Given the description of an element on the screen output the (x, y) to click on. 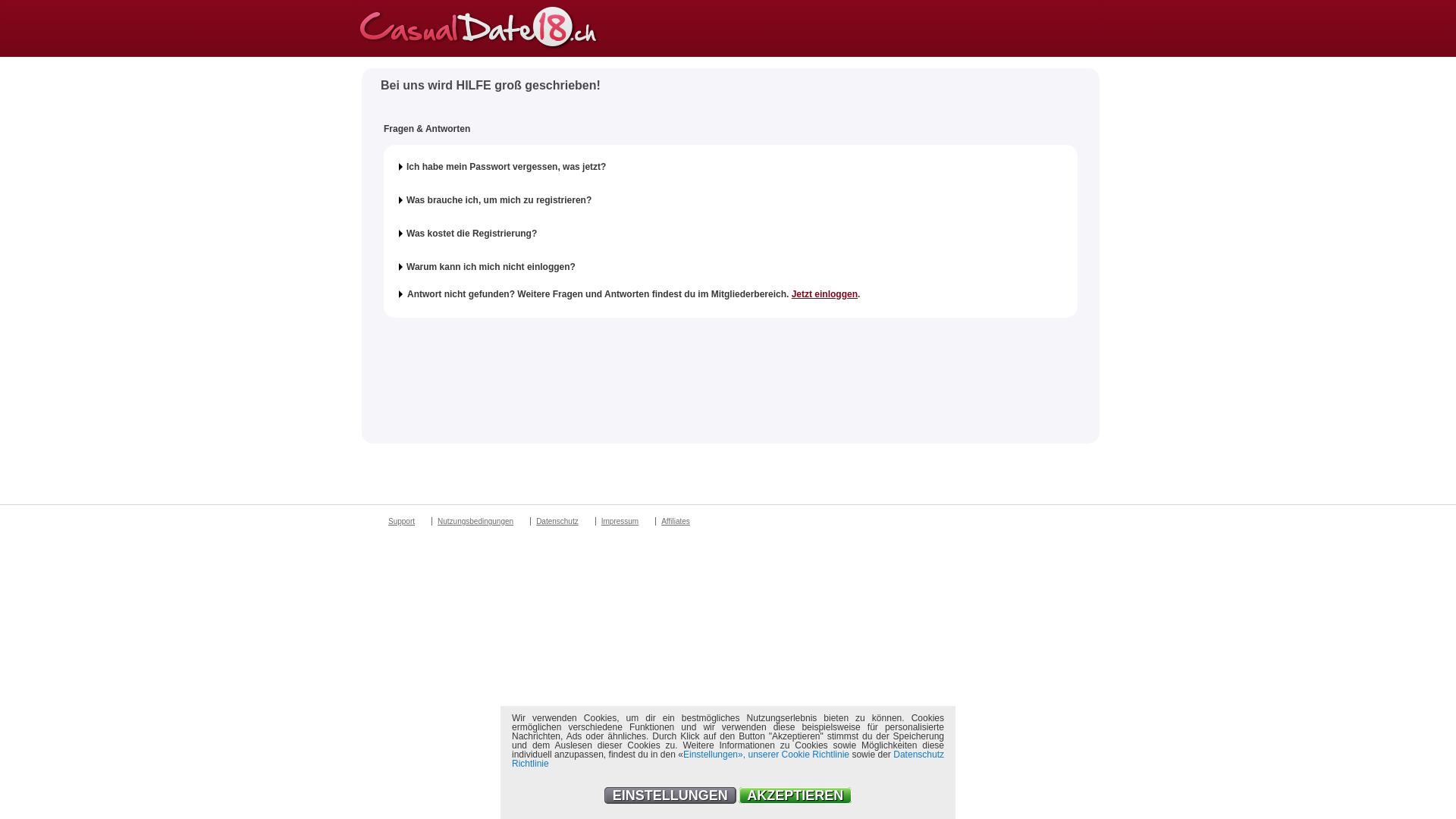
AKZEPTIEREN Element type: text (794, 795)
Datenschutz Richtlinie Element type: text (727, 758)
Jetzt einloggen Element type: text (824, 293)
Affiliates Element type: text (675, 521)
EINSTELLUNGEN Element type: text (670, 795)
Impressum Element type: text (619, 521)
Nutzungsbedingungen Element type: text (474, 521)
Einstellungen Element type: text (710, 754)
Support Element type: text (401, 521)
Cookie Richtlinie Element type: text (815, 754)
Datenschutz Element type: text (556, 521)
